Given the description of an element on the screen output the (x, y) to click on. 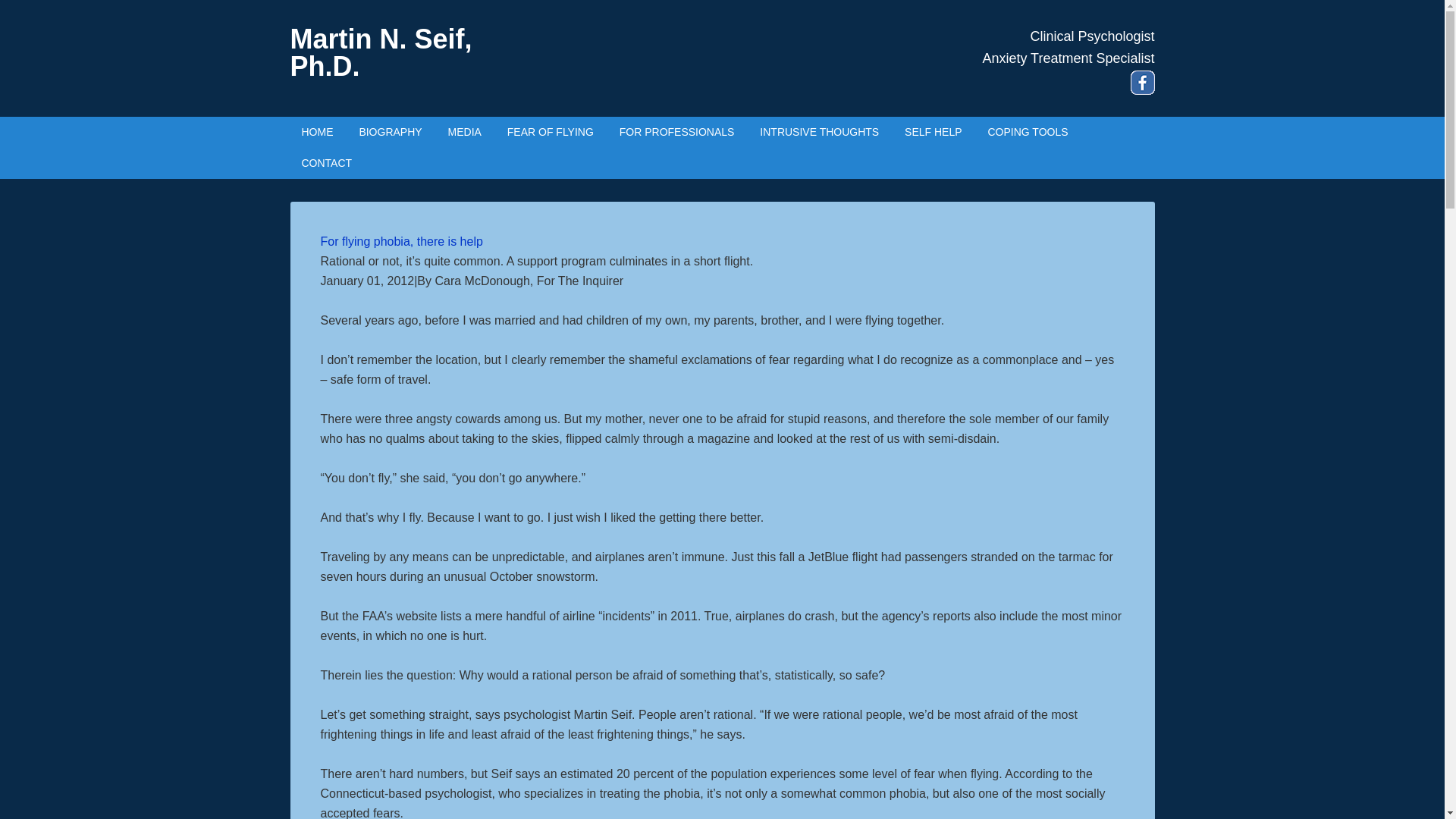
FEAR OF FLYING (550, 132)
COPING TOOLS (1026, 132)
INTRUSIVE THOUGHTS (818, 132)
For flying phobia, there is help (400, 241)
CONTACT (325, 163)
FOR PROFESSIONALS (676, 132)
BIOGRAPHY (389, 132)
MEDIA (464, 132)
Martin N. Seif, Ph.D. (380, 52)
HOME (316, 132)
